Given the description of an element on the screen output the (x, y) to click on. 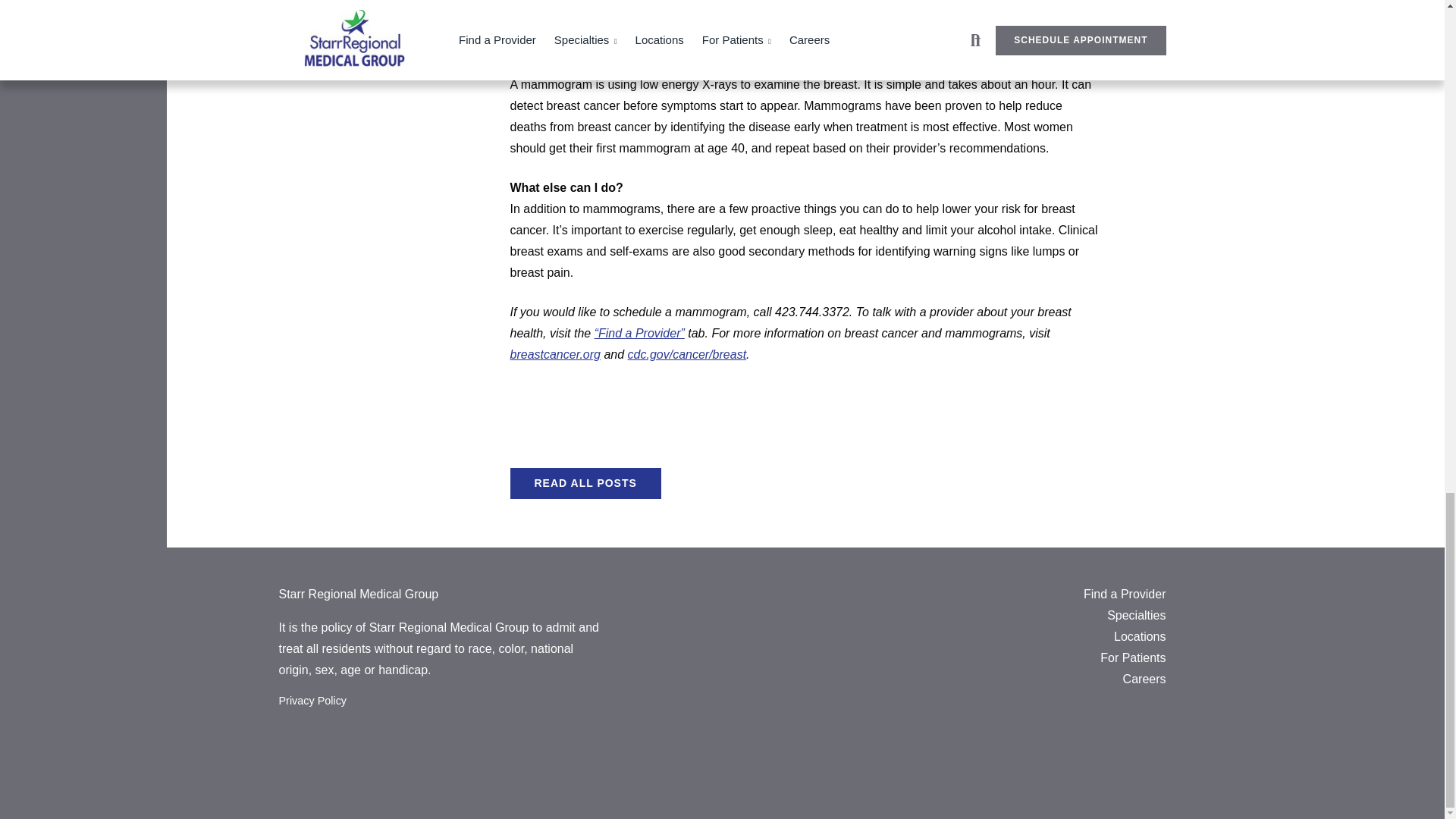
breastcancer.org (554, 354)
Privacy Policy (313, 703)
Careers (1144, 681)
Find a Provider (1124, 597)
Specialties (1136, 618)
Locations (1139, 639)
For Patients (1133, 660)
READ ALL POSTS (585, 483)
